Given the description of an element on the screen output the (x, y) to click on. 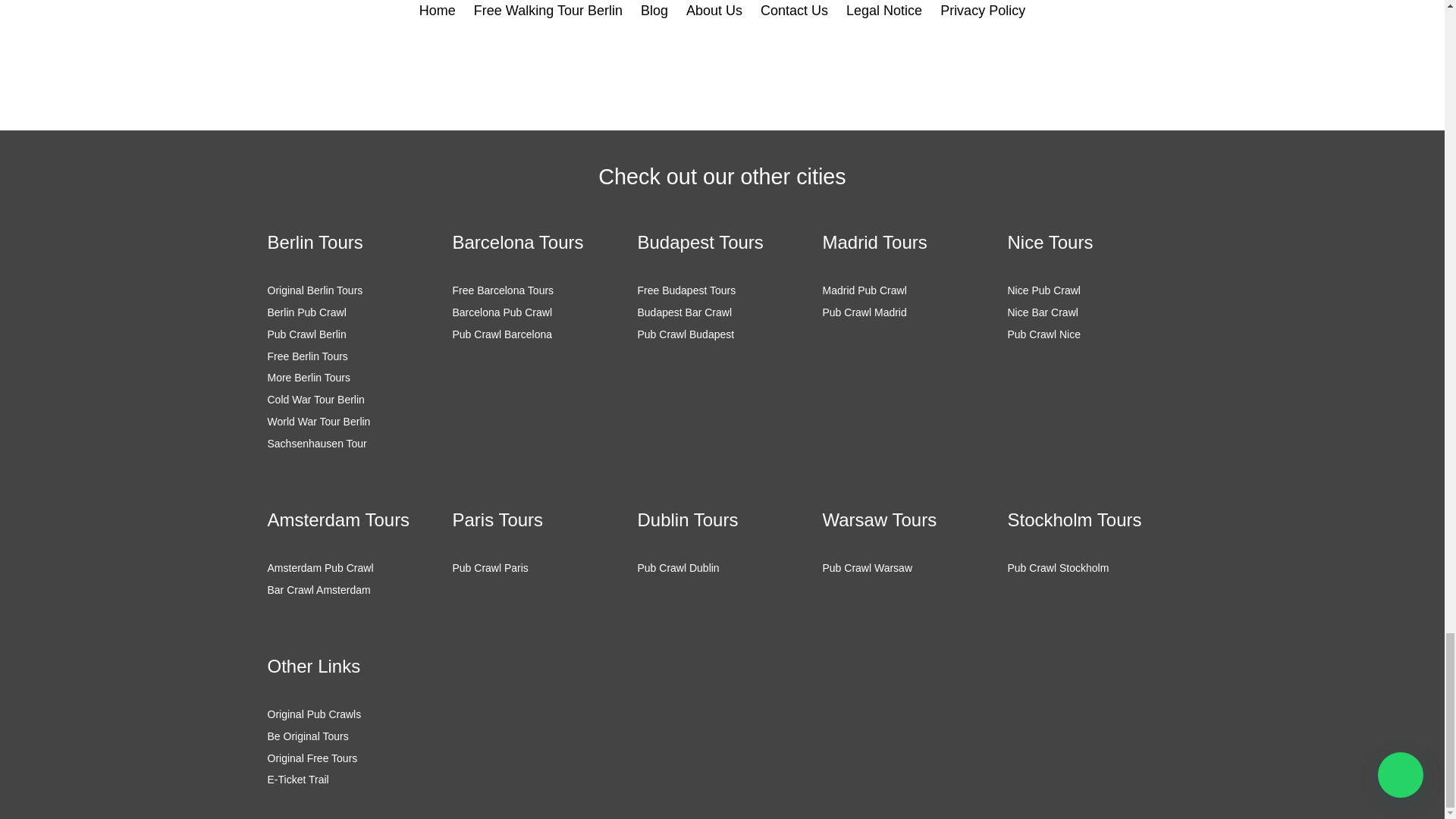
Contact Us (794, 11)
Blog (654, 11)
Legal Notice (883, 11)
Cold War Tour Berlin (315, 399)
Original Berlin Tours (314, 290)
More Berlin Tours (307, 377)
Free Walking Tour Berlin (548, 11)
Pub Crawl Berlin (306, 334)
Berlin Pub Crawl (306, 312)
Home (437, 11)
Free Barcelona Tours (502, 290)
Free Berlin Tours (306, 356)
World War Tour Berlin (317, 421)
Privacy Policy (982, 11)
About Us (713, 11)
